Given the description of an element on the screen output the (x, y) to click on. 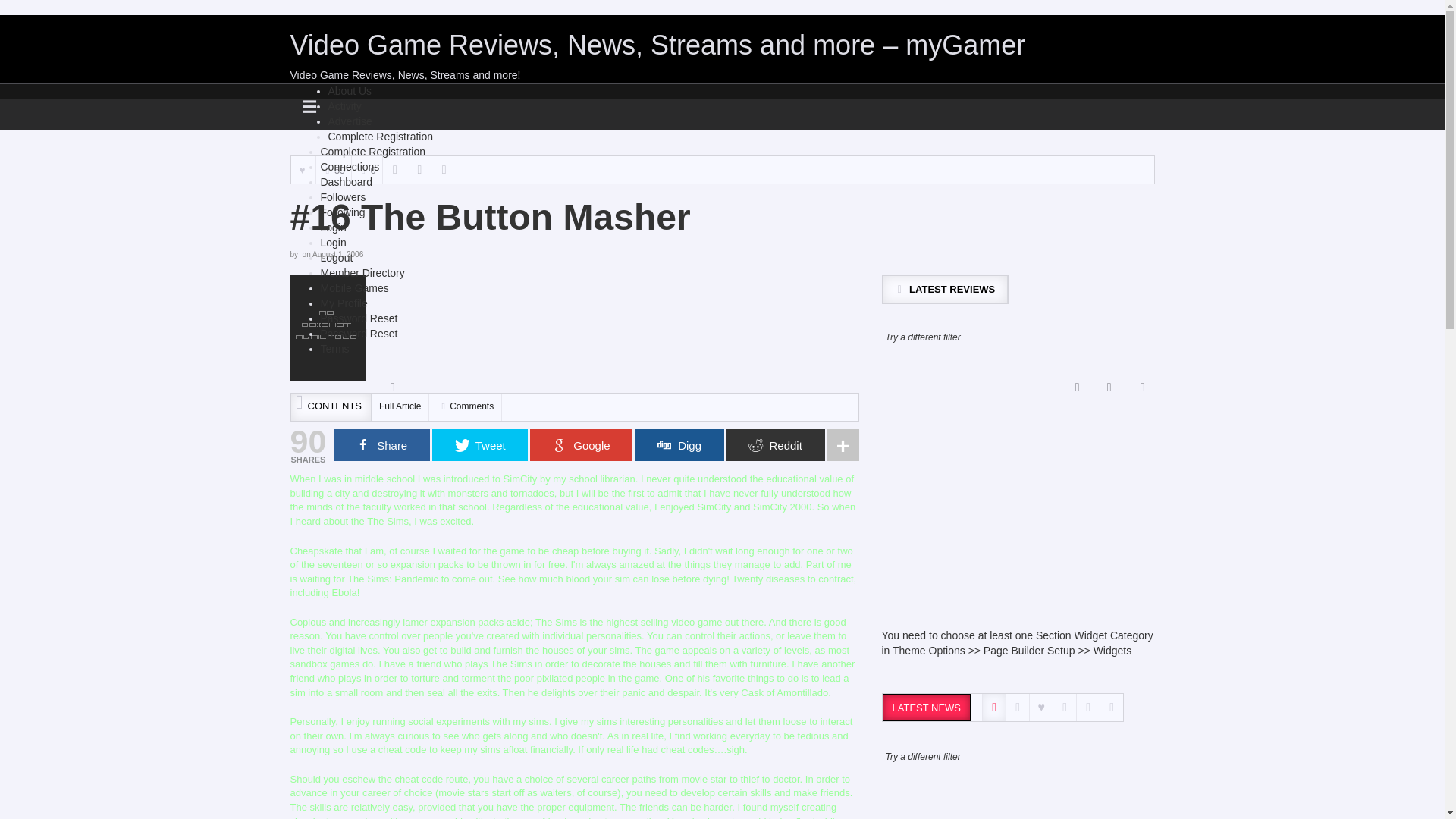
My Profile (343, 303)
Password Reset (358, 318)
Complete Registration (372, 151)
Connections (349, 166)
Login (333, 242)
Member Directory (362, 272)
Logout (336, 257)
Password Reset (358, 333)
Activity (344, 105)
Complete Registration (379, 136)
